Given the description of an element on the screen output the (x, y) to click on. 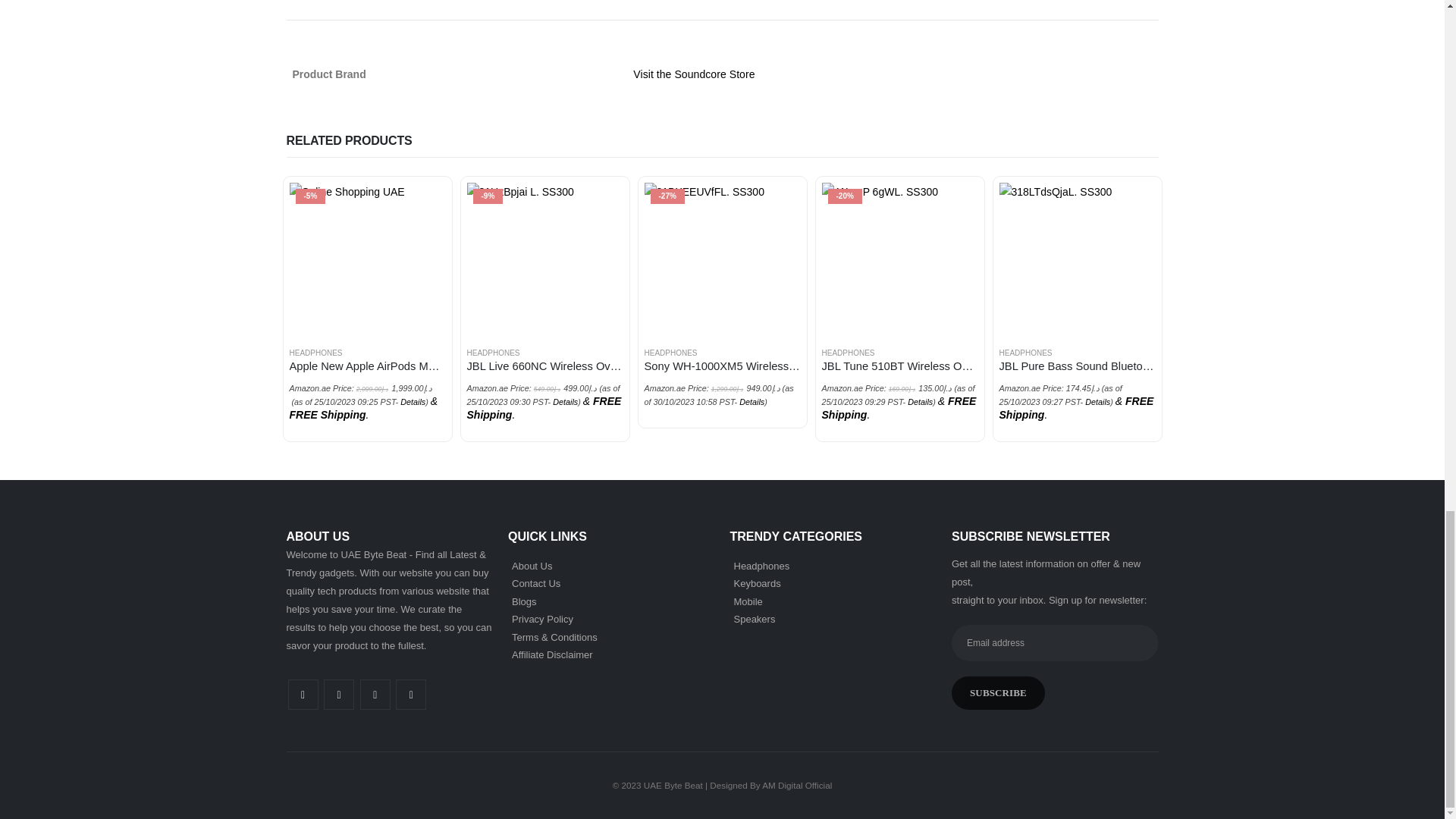
SUBSCRIBE (998, 693)
Visit the Soundcore Store (693, 73)
HEADPHONES (315, 352)
Apple New Apple AirPods Max - Space Gray, Wireless 4 (367, 258)
